Given the description of an element on the screen output the (x, y) to click on. 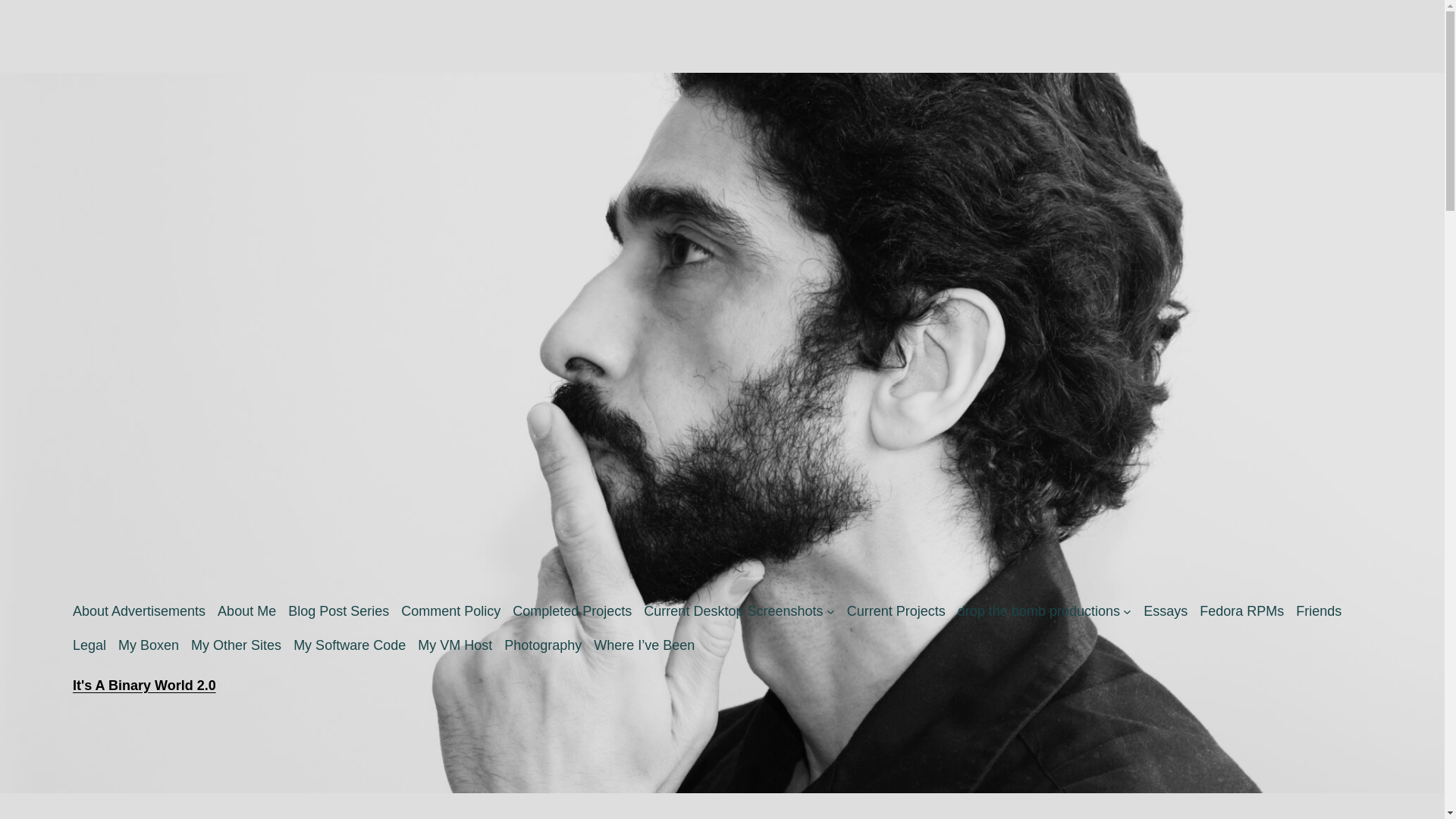
Current Desktop Screenshots (732, 611)
Completed Projects (571, 611)
Fedora RPMs (1241, 611)
About Advertisements (138, 611)
Comment Policy (450, 611)
Friends (1317, 611)
About Me (246, 611)
Current Projects (895, 611)
drop the bomb productions (1038, 611)
Blog Post Series (338, 611)
Essays (1165, 611)
Legal (89, 645)
